Given the description of an element on the screen output the (x, y) to click on. 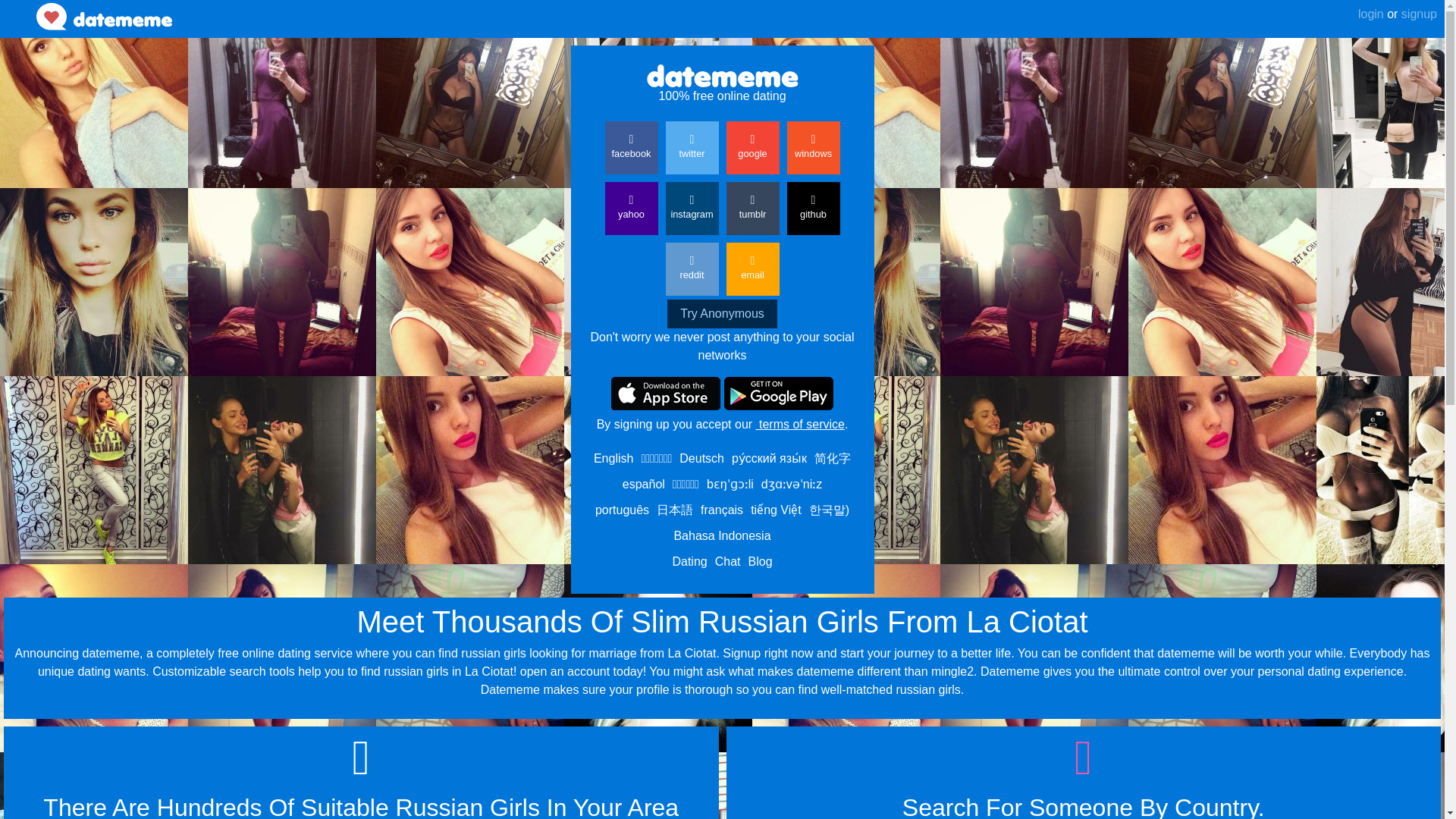
email (752, 268)
Try Anonymous (721, 313)
windows (813, 147)
twitter (692, 147)
Dating (688, 561)
facebook (631, 147)
back (17, 6)
instagram (692, 208)
Try Anonymous (721, 313)
 signup (1417, 14)
github (813, 208)
 terms of service (799, 423)
Blog (759, 561)
yahoo (631, 208)
home (103, 16)
